Given the description of an element on the screen output the (x, y) to click on. 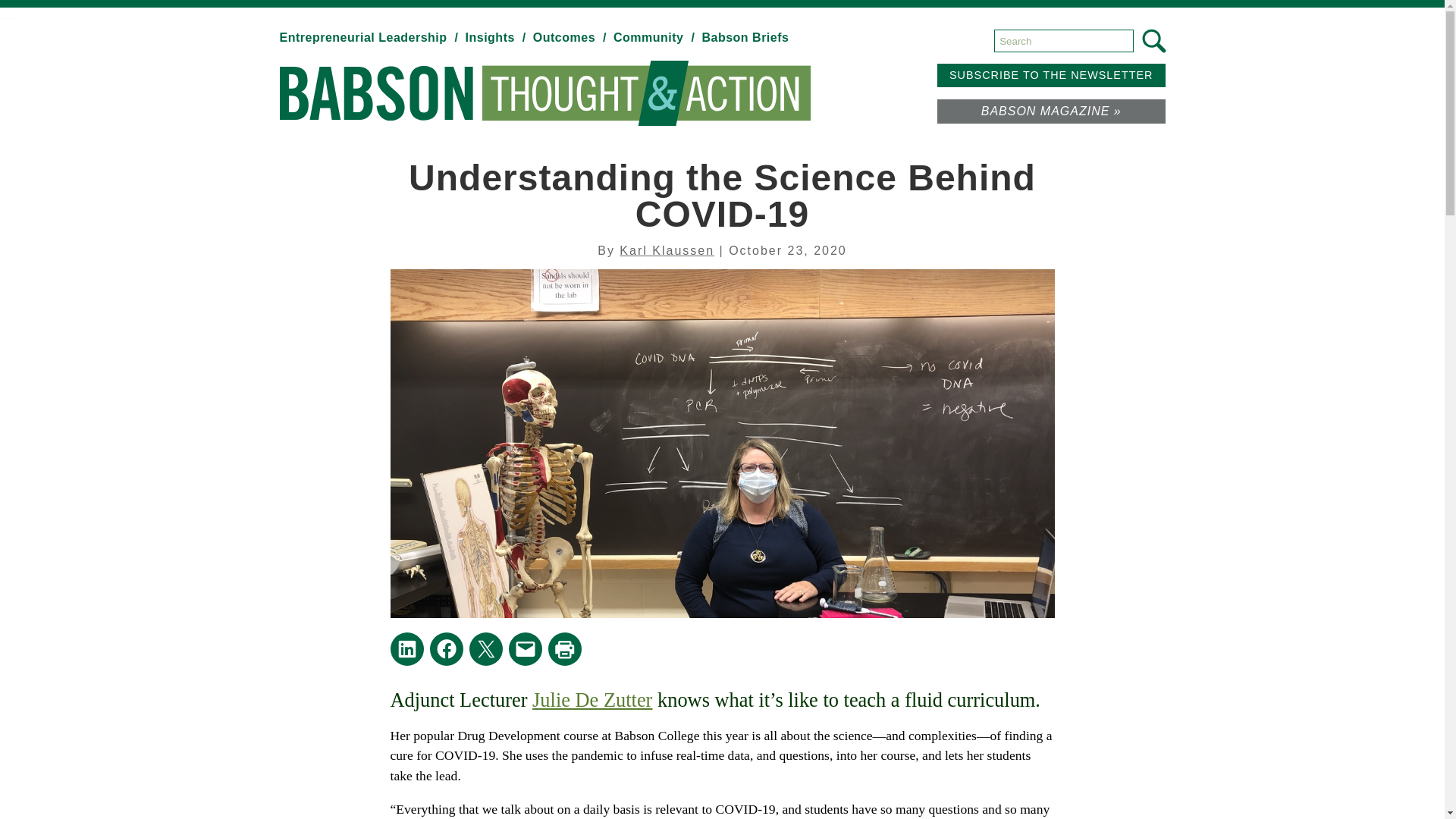
Entrepreneurial Leadership (370, 37)
View category: Entrepreneurial Leadership (370, 37)
View category: Babson Briefs (745, 37)
Outcomes (571, 37)
Karl Klaussen (667, 250)
Julie De Zutter (592, 699)
View category: Insights (497, 37)
Visit Babson Magazine (1051, 111)
View category: Outcomes (571, 37)
View category: Community (655, 37)
